Given the description of an element on the screen output the (x, y) to click on. 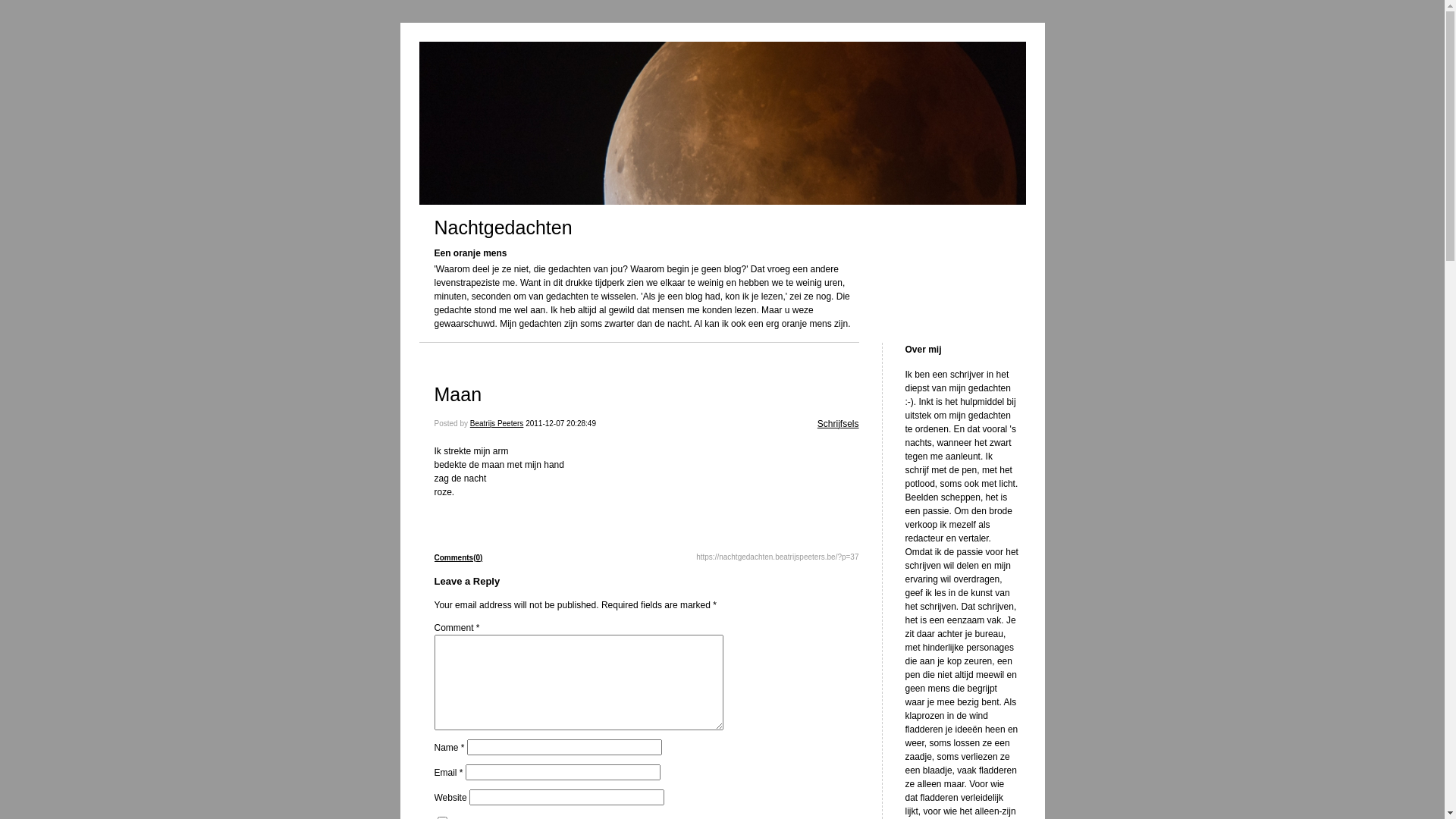
Beatrijs Peeters Element type: text (497, 423)
Schrijfsels Element type: text (838, 423)
Maan Element type: text (457, 393)
Nachtgedachten Element type: text (502, 227)
2011-12-07 20:28:49 Element type: text (560, 423)
Comments(0) Element type: text (457, 557)
